Given the description of an element on the screen output the (x, y) to click on. 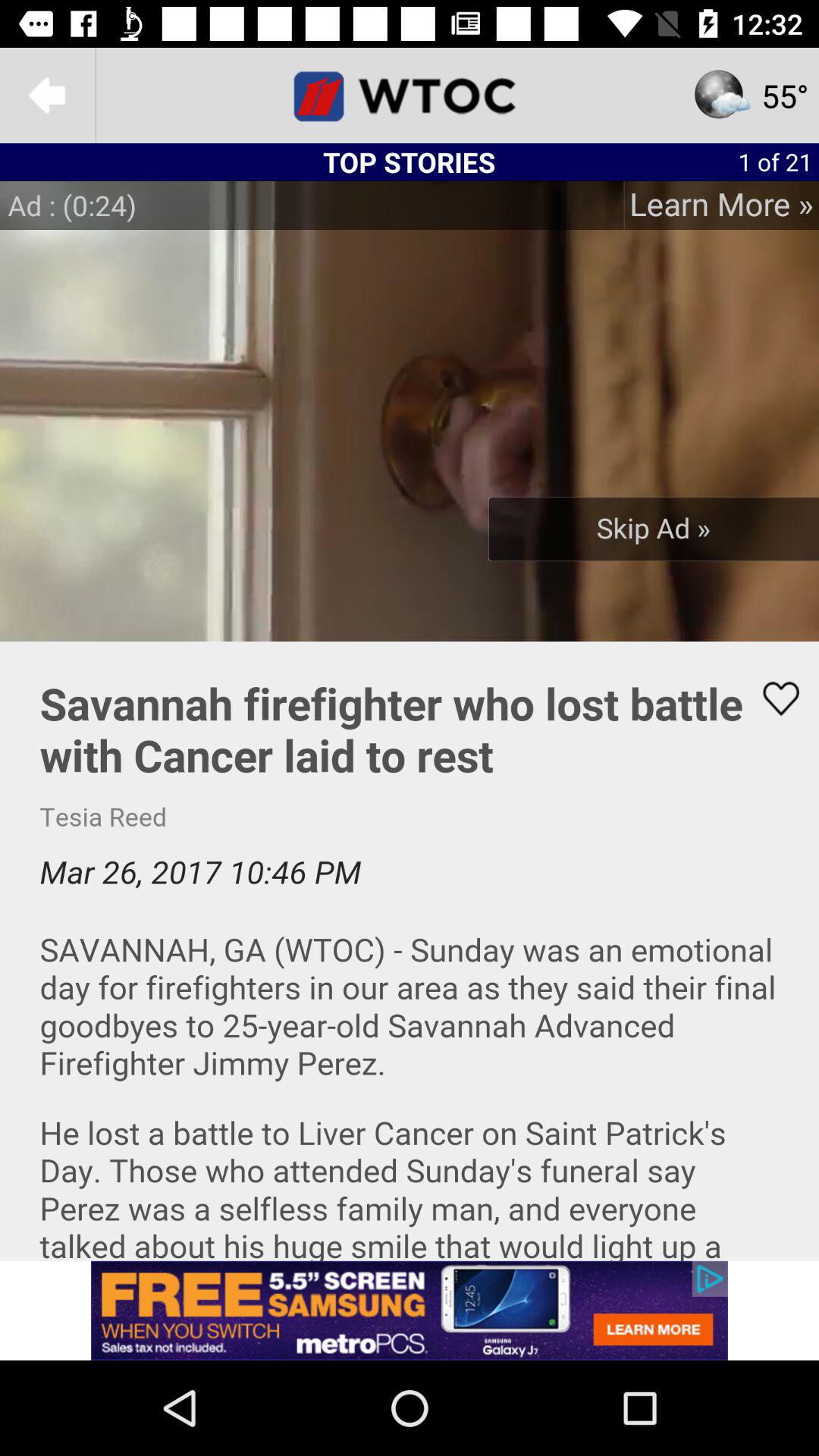
go back button (47, 95)
